Given the description of an element on the screen output the (x, y) to click on. 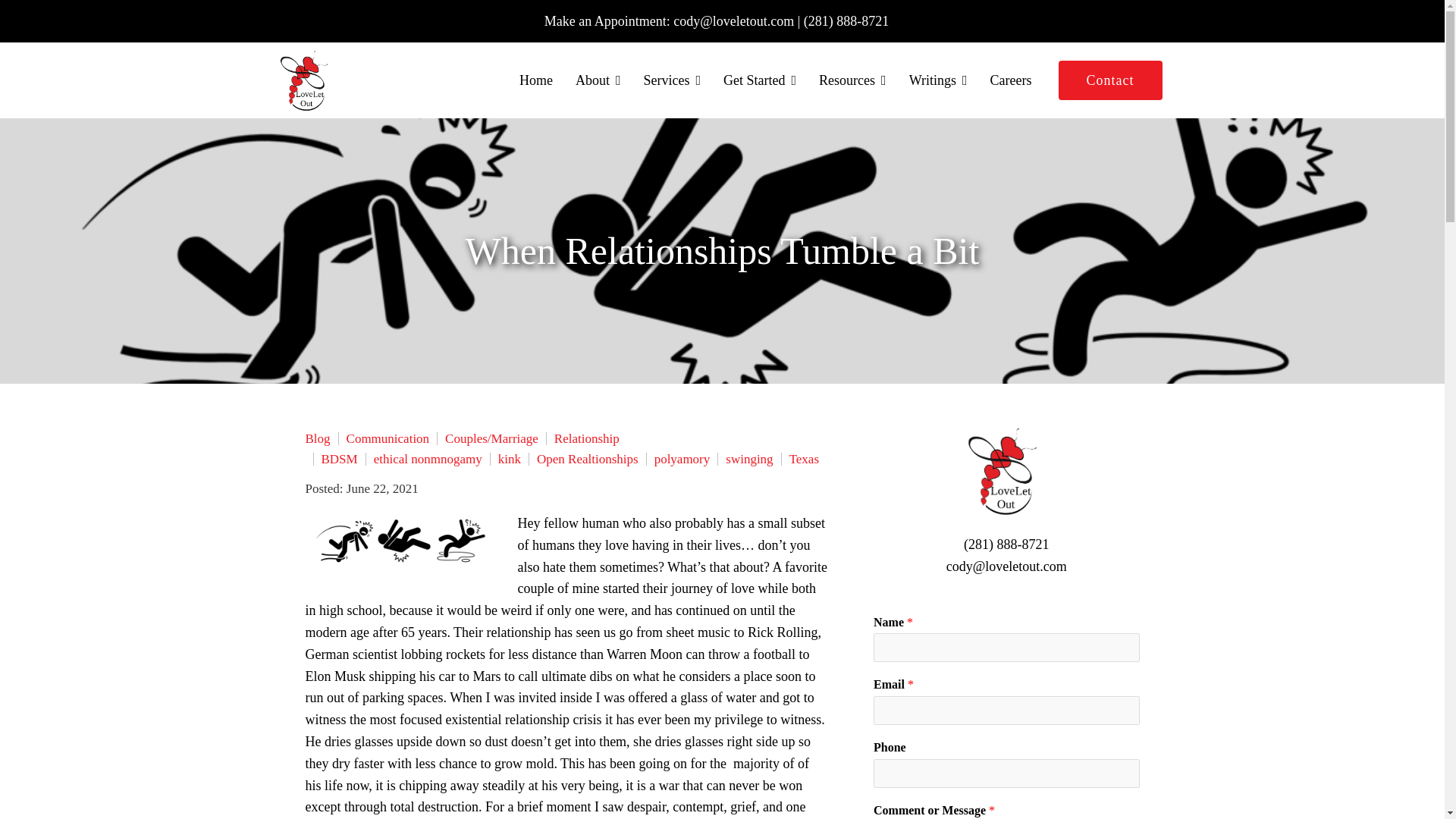
About (598, 80)
Writings (938, 80)
Careers (1011, 80)
Home (536, 80)
Services (671, 80)
Resources (852, 80)
Get Started (759, 80)
